Given the description of an element on the screen output the (x, y) to click on. 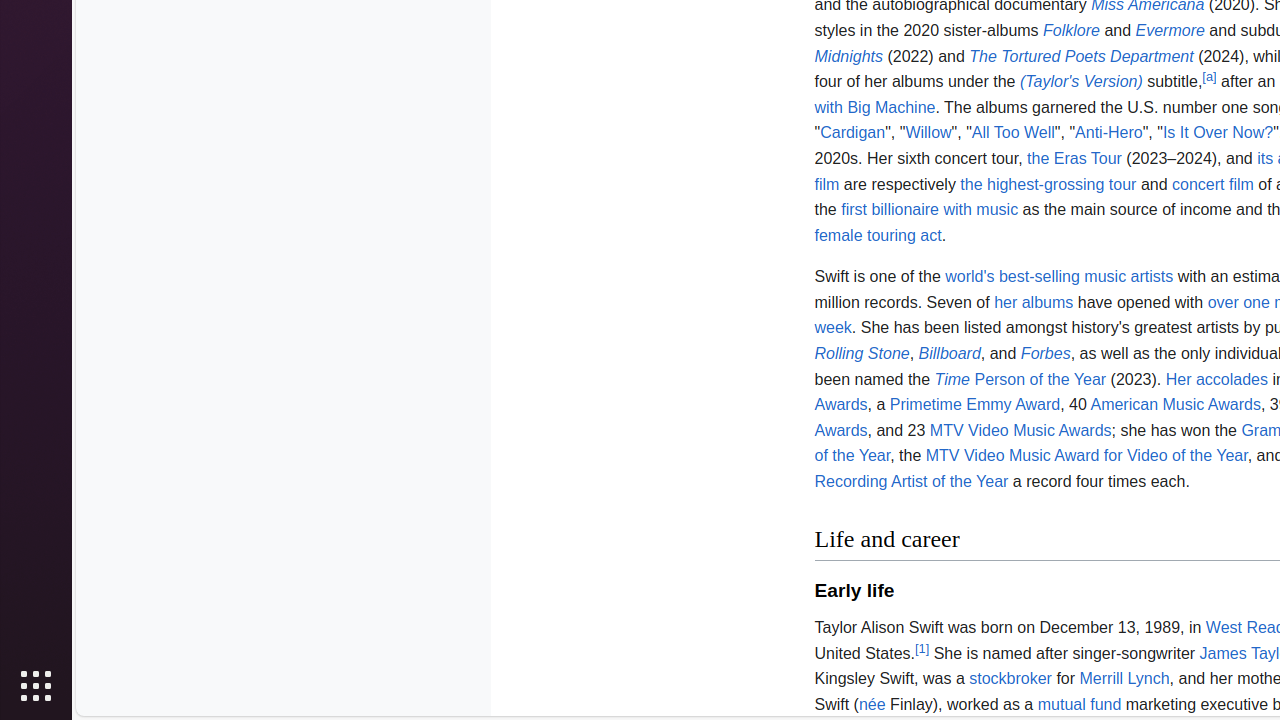
Her accolades Element type: link (1216, 378)
world's best-selling music artists Element type: link (1059, 277)
Rolling Stone Element type: link (862, 354)
the Eras Tour Element type: link (1074, 158)
[1] Element type: link (922, 648)
